Given the description of an element on the screen output the (x, y) to click on. 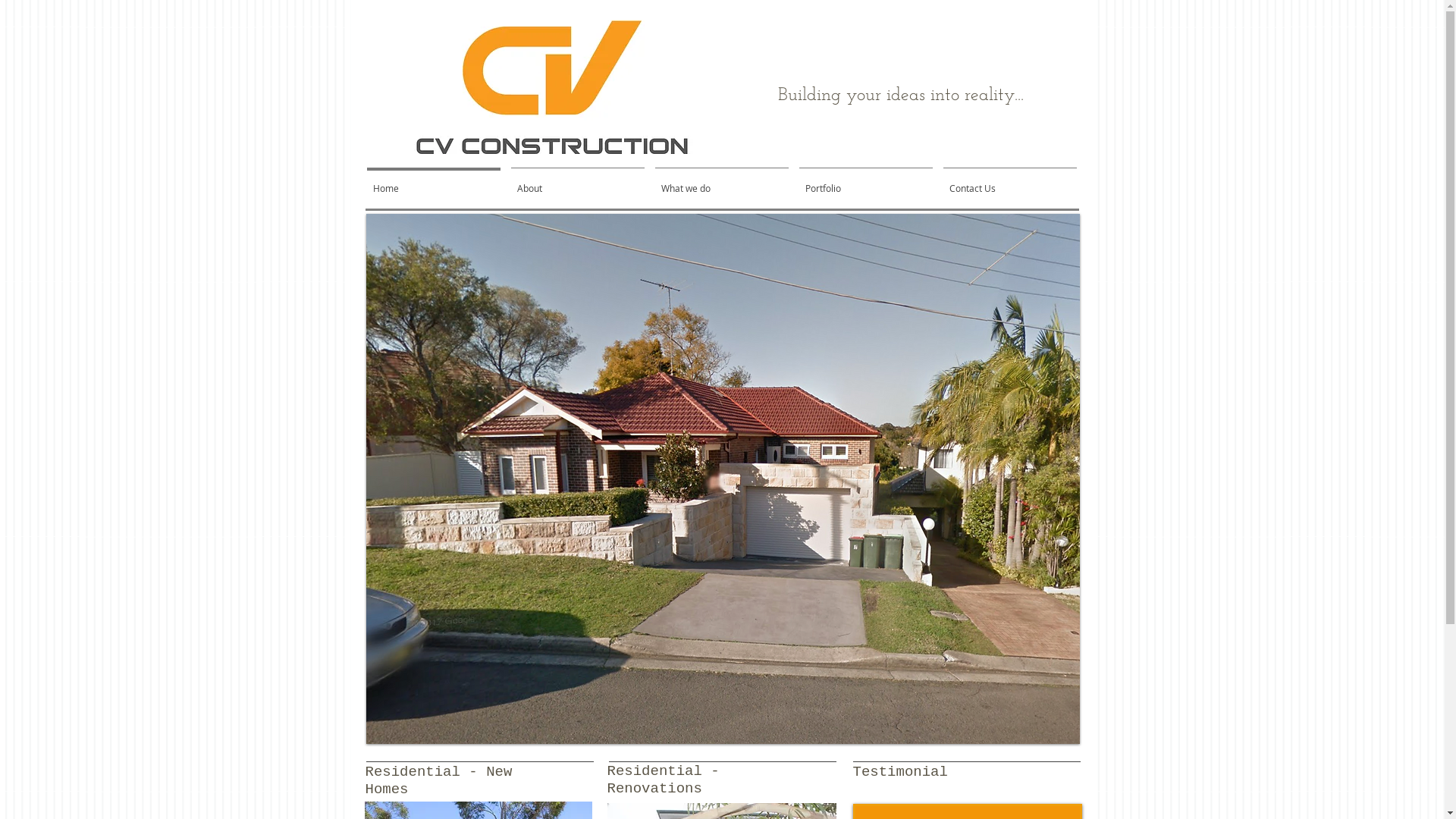
Portfolio Element type: text (865, 181)
Home Element type: text (432, 181)
Contact Us Element type: text (1009, 181)
About Element type: text (577, 181)
What we do Element type: text (721, 181)
